Given the description of an element on the screen output the (x, y) to click on. 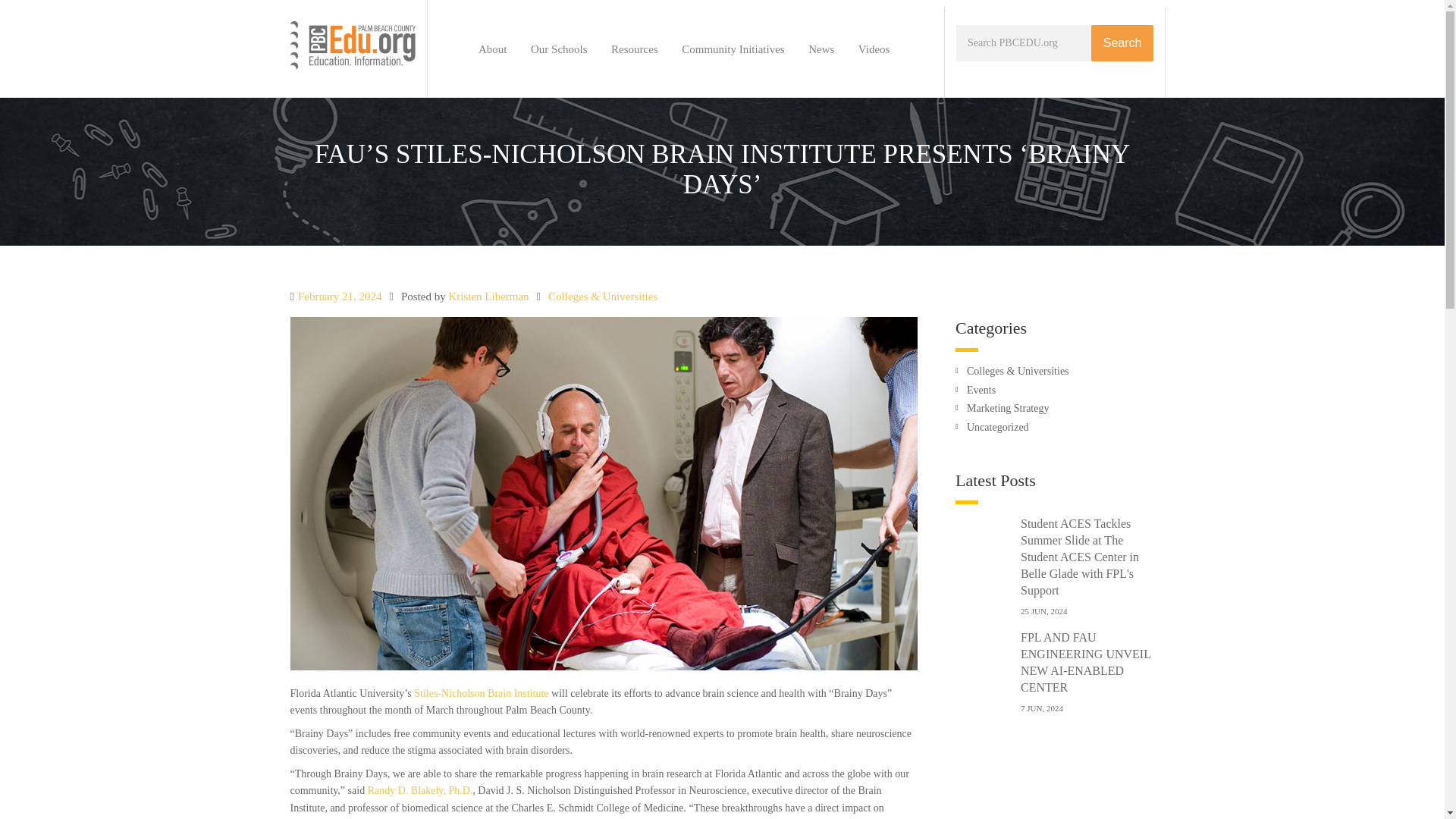
Videos (874, 49)
Our Schools (558, 49)
Search (1122, 43)
News (820, 49)
Randy D. Blakely, Ph.D. (420, 790)
FPL AND FAU ENGINEERING UNVEIL NEW AI-ENABLED CENTER (1085, 661)
About (492, 49)
Community Initiatives (732, 49)
February 21, 2024 (339, 296)
View all posts by Kristen Liberman (488, 296)
Kristen Liberman (488, 296)
Stiles-Nicholson Brain Institute (480, 693)
Resources (633, 49)
